Given the description of an element on the screen output the (x, y) to click on. 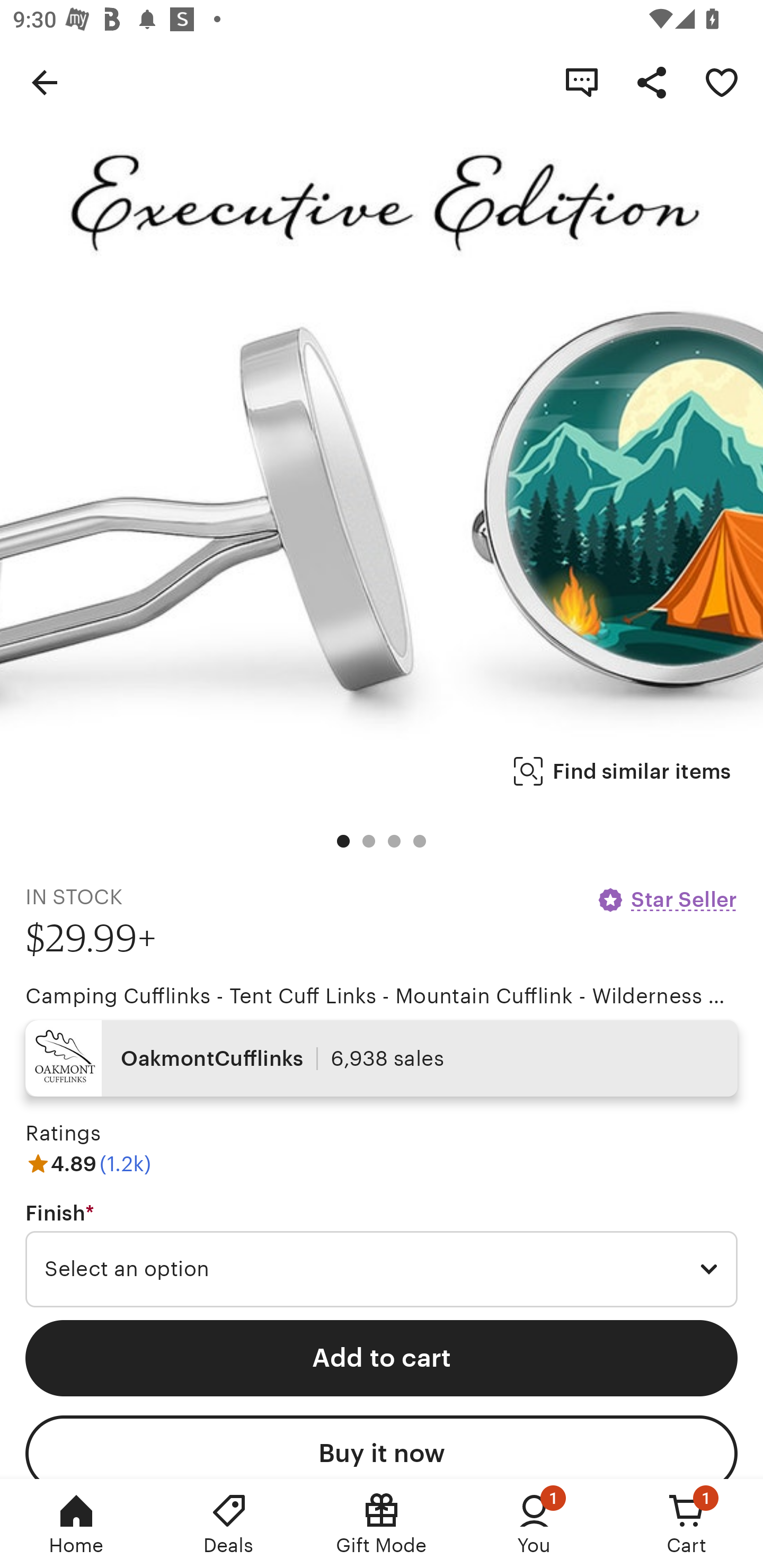
Navigate up (44, 81)
Contact shop (581, 81)
Share (651, 81)
Find similar items (622, 771)
Star Seller (666, 899)
OakmontCufflinks 6,938 sales (381, 1058)
Ratings (62, 1133)
4.89 (1.2k) (88, 1163)
Finish * Required Select an option (381, 1254)
Select an option (381, 1268)
Add to cart (381, 1358)
Buy it now (381, 1446)
Deals (228, 1523)
Gift Mode (381, 1523)
You, 1 new notification You (533, 1523)
Cart, 1 new notification Cart (686, 1523)
